Given the description of an element on the screen output the (x, y) to click on. 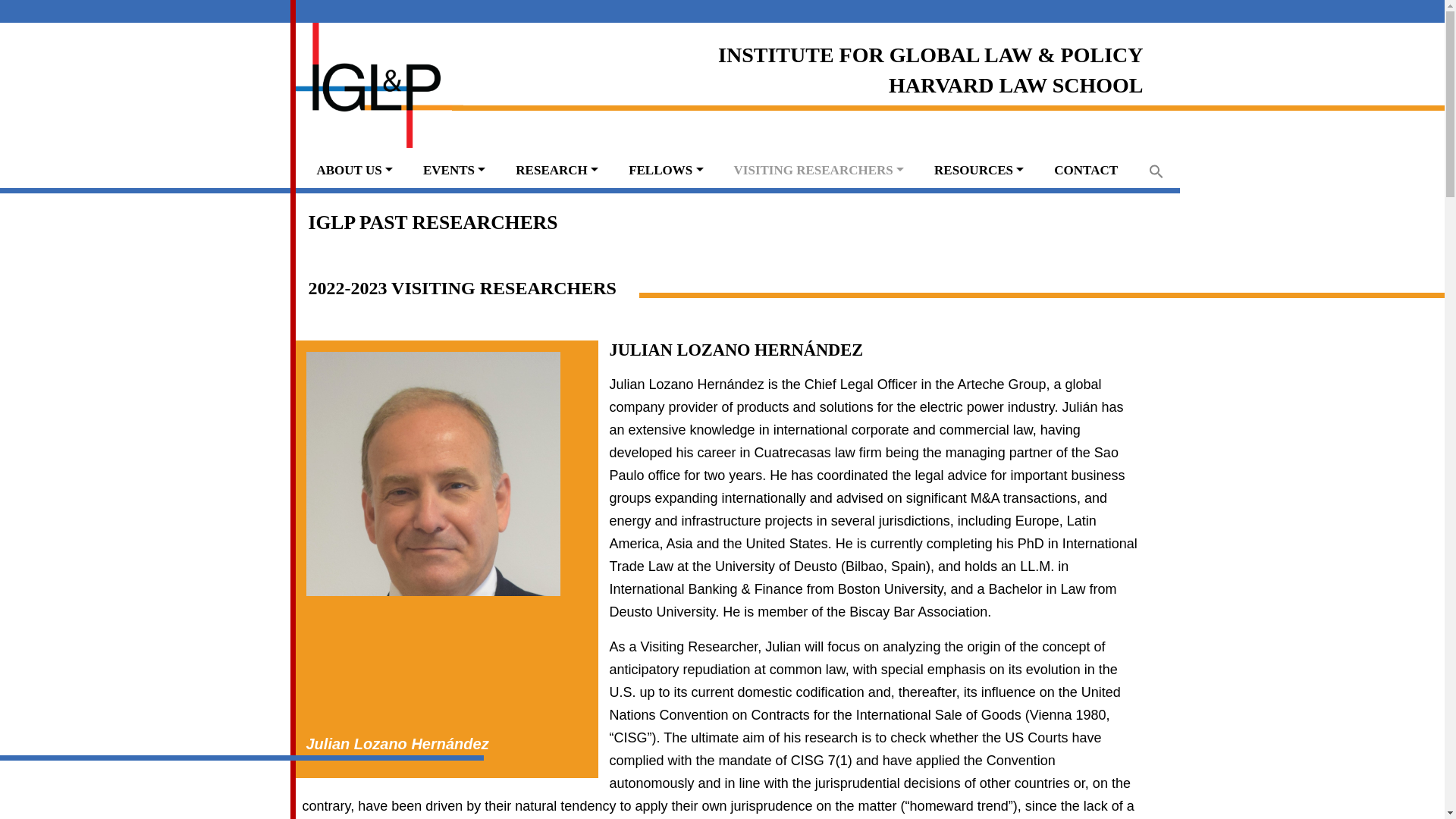
Fellows (664, 170)
About Us (354, 170)
Research (556, 170)
EVENTS (453, 170)
VISITING RESEARCHERS (819, 170)
RESEARCH (556, 170)
RESOURCES (978, 170)
CONTACT (1085, 170)
Events (453, 170)
ABOUT US (354, 170)
FELLOWS (664, 170)
